Given the description of an element on the screen output the (x, y) to click on. 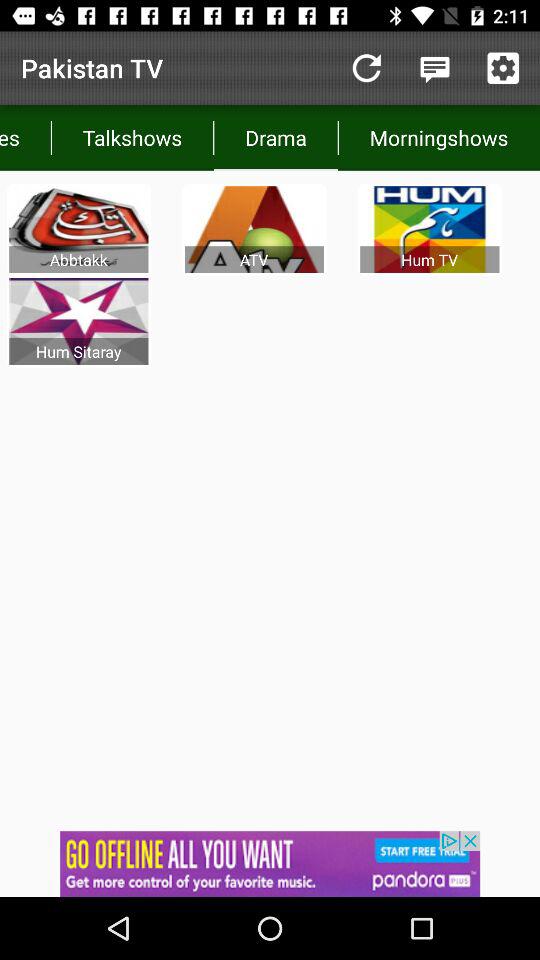
sponsored link (270, 864)
